Given the description of an element on the screen output the (x, y) to click on. 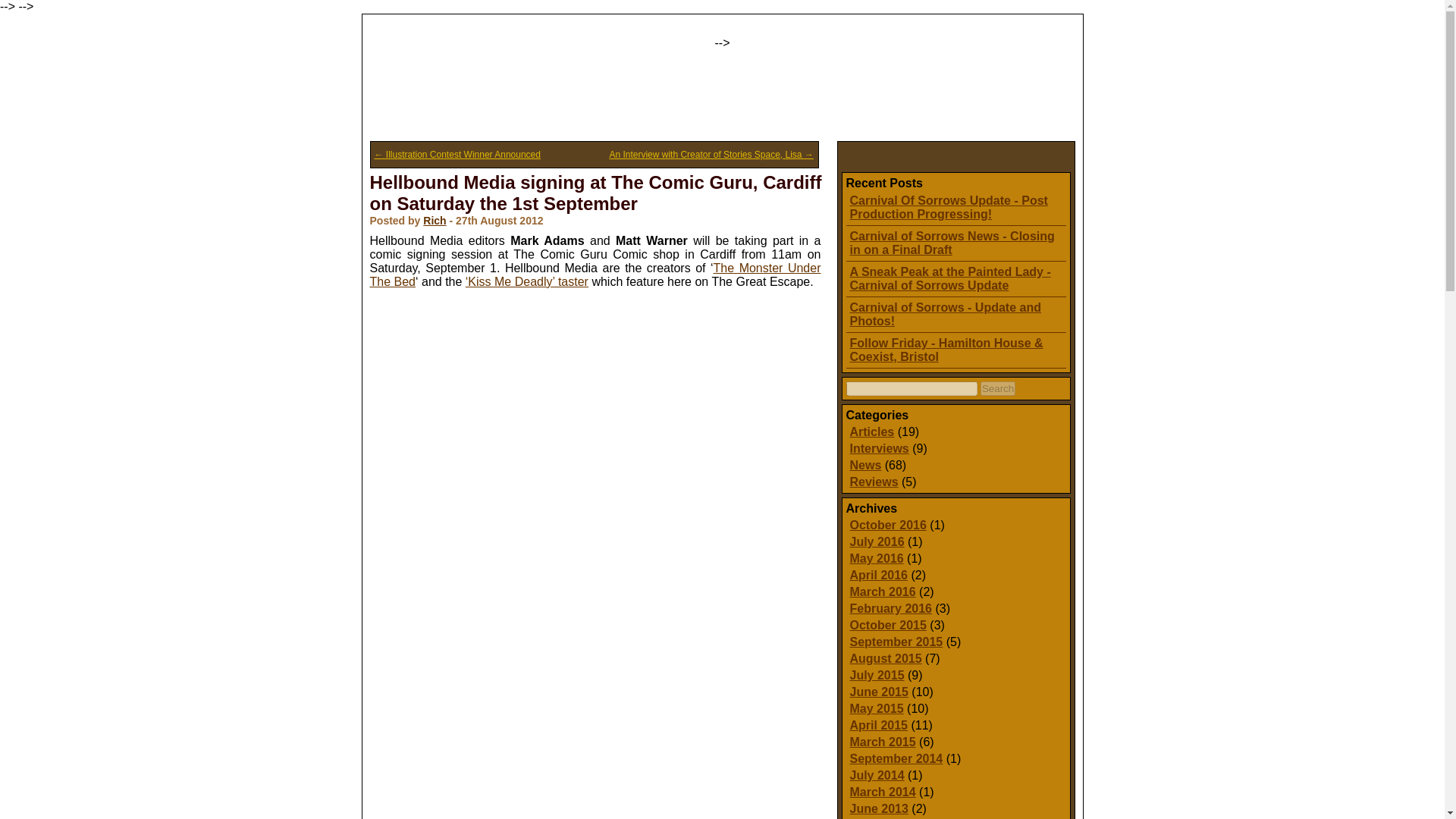
September 2014 (895, 758)
Interviews (878, 448)
The Monster Under The Bed (595, 274)
Carnival of Sorrows News - Closing in on a Final Draft (951, 243)
May 2016 (875, 558)
Reviews (873, 481)
October 2016 (887, 524)
The Great Escape (462, 57)
May 2015 (875, 707)
Search (996, 388)
News (864, 464)
Carnival of Sorrows - Update and Photos! (944, 314)
Home (404, 114)
March 2016 (881, 591)
